Given the description of an element on the screen output the (x, y) to click on. 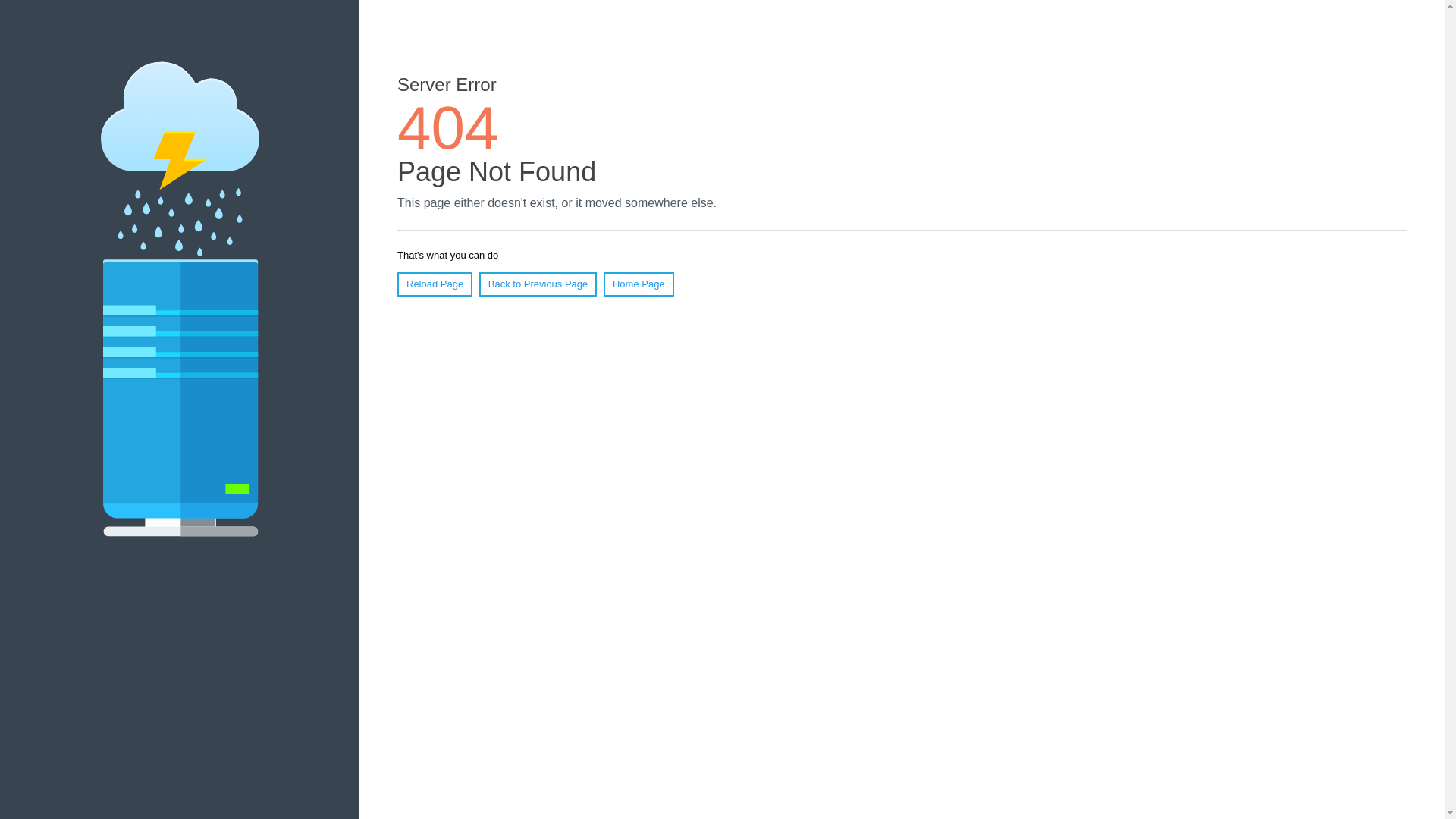
Home Page Element type: text (638, 284)
Back to Previous Page Element type: text (538, 284)
Reload Page Element type: text (434, 284)
